Given the description of an element on the screen output the (x, y) to click on. 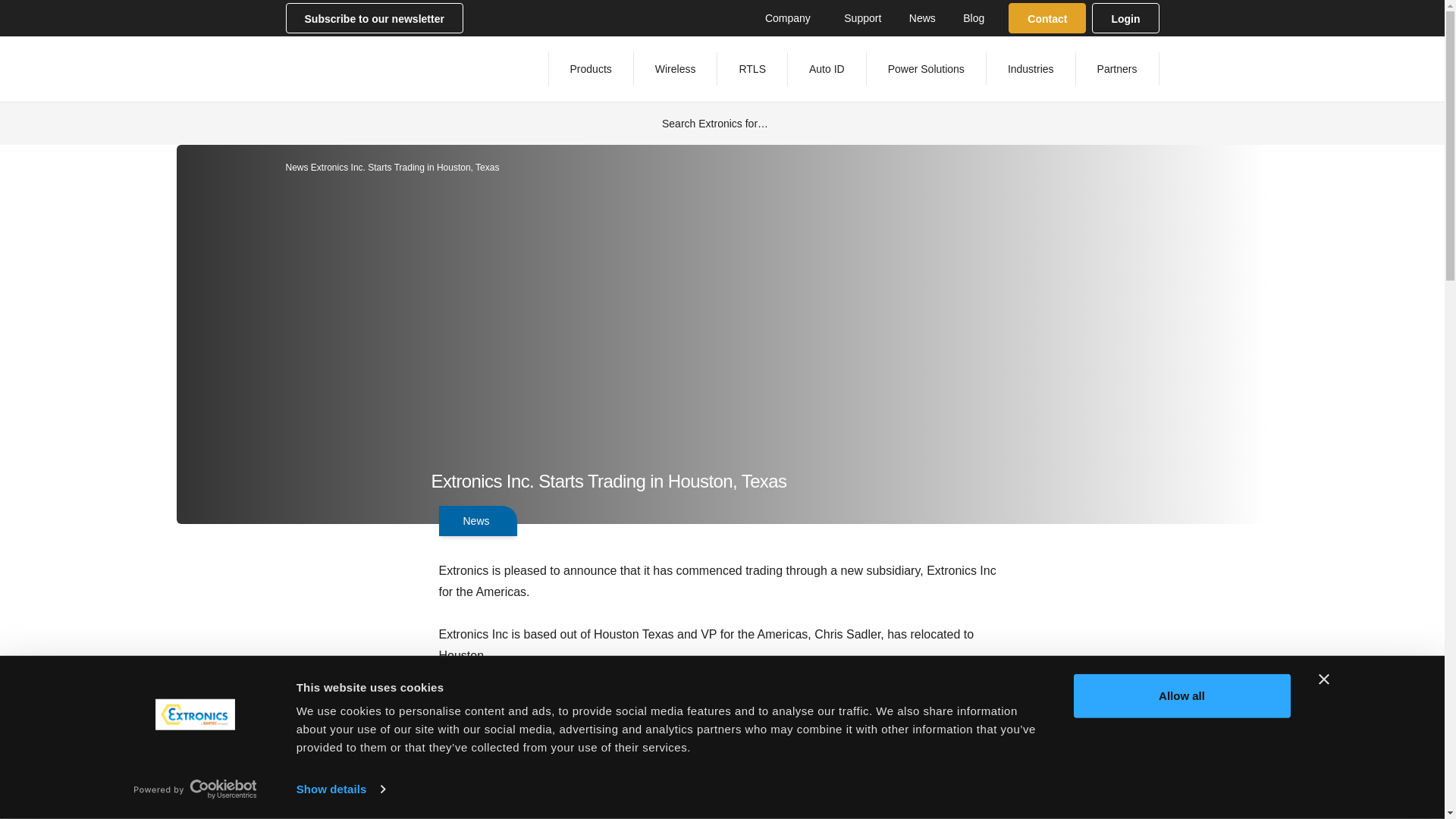
Allow all (1182, 696)
Show details (340, 789)
Company (790, 17)
